Given the description of an element on the screen output the (x, y) to click on. 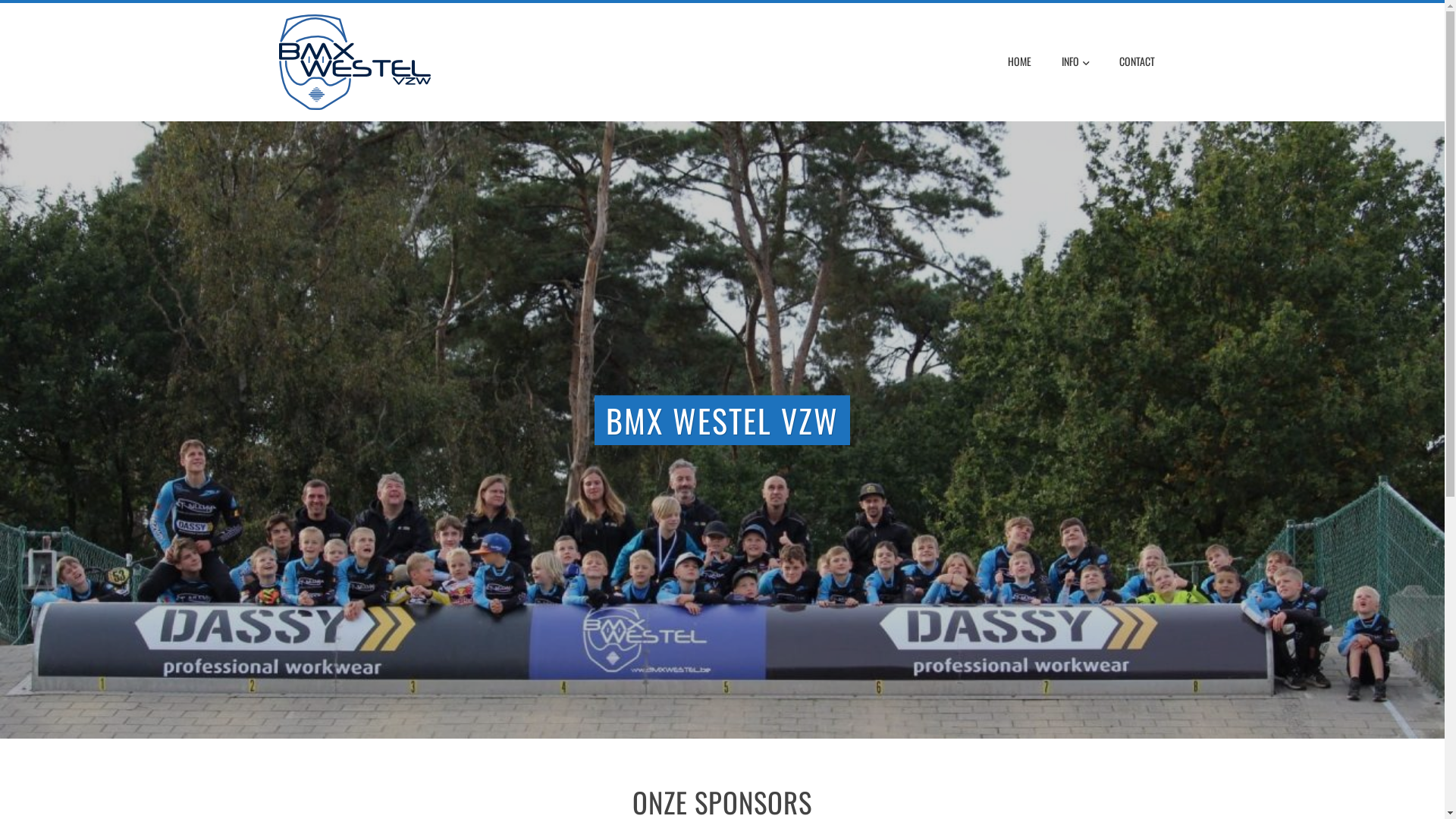
HOME Element type: text (1019, 61)
CONTACT Element type: text (1136, 61)
INFO Element type: text (1074, 61)
